Given the description of an element on the screen output the (x, y) to click on. 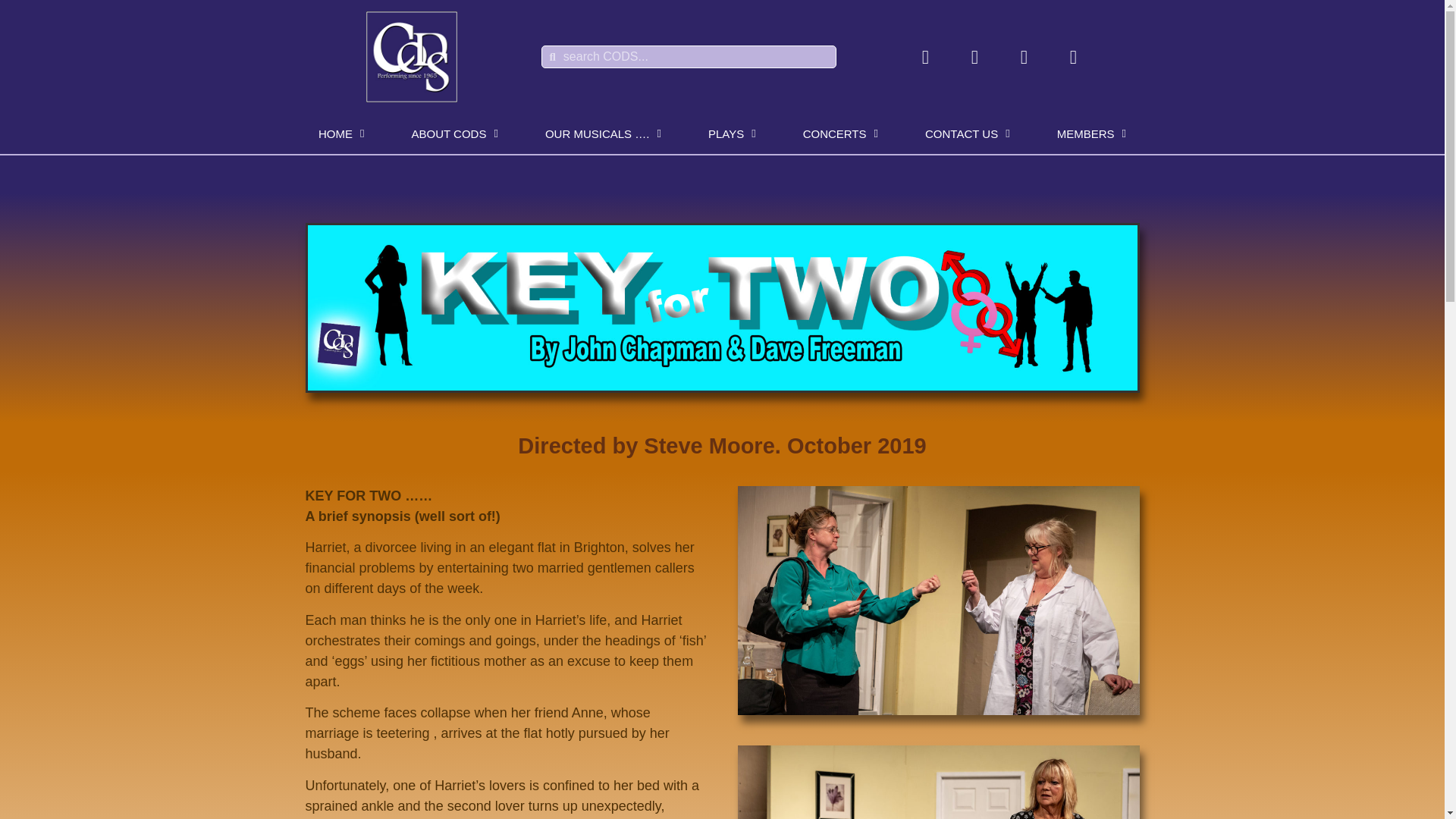
ABOUT CODS (454, 133)
HOME (341, 133)
PLAYS (731, 133)
